Given the description of an element on the screen output the (x, y) to click on. 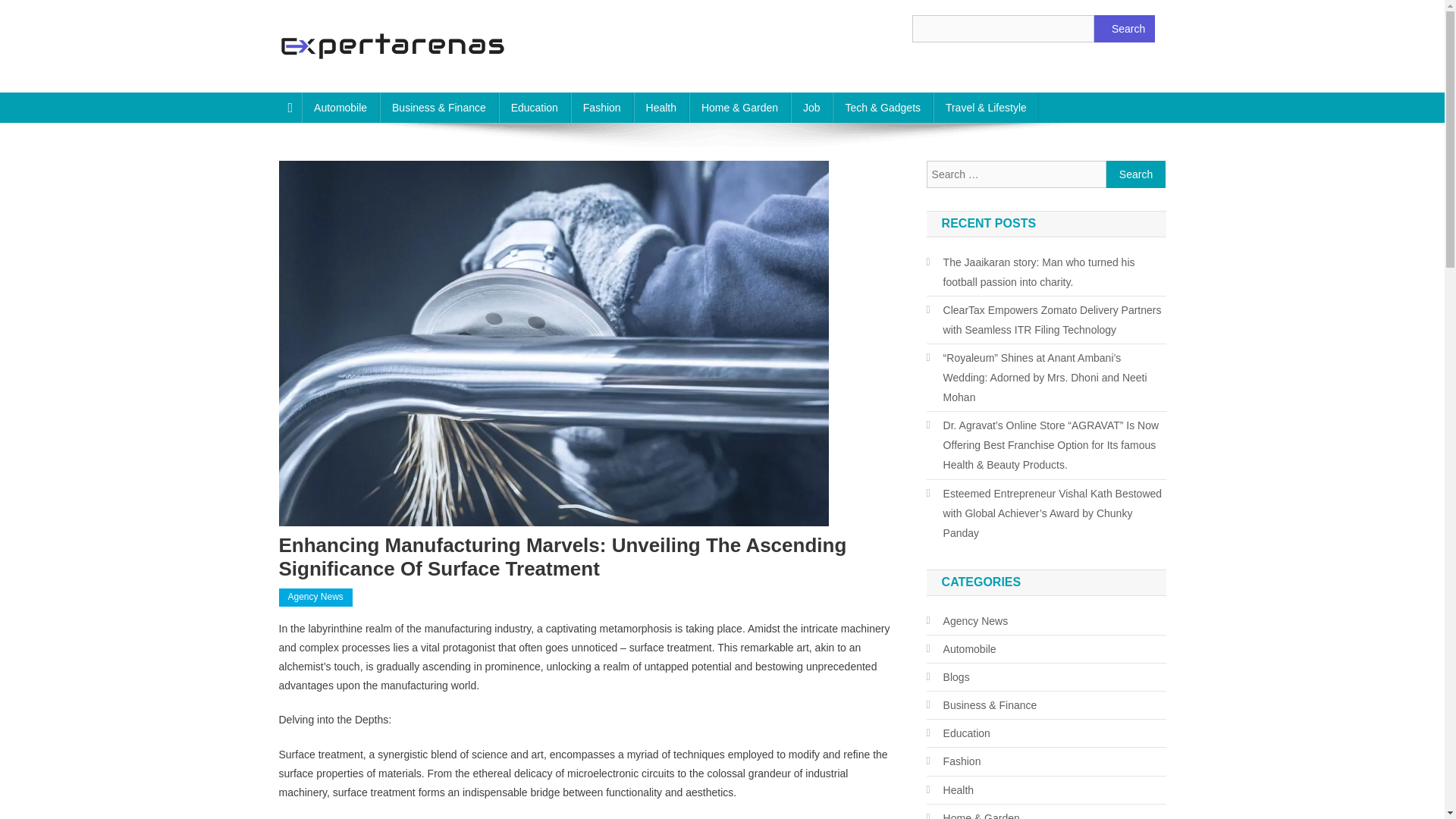
Search (1136, 174)
Search (1123, 28)
Health (660, 107)
Search (1136, 174)
Fashion (601, 107)
Job (811, 107)
Education (534, 107)
Search (1136, 174)
Agency News (315, 597)
Automobile (339, 107)
ExpertArenas (357, 76)
